Given the description of an element on the screen output the (x, y) to click on. 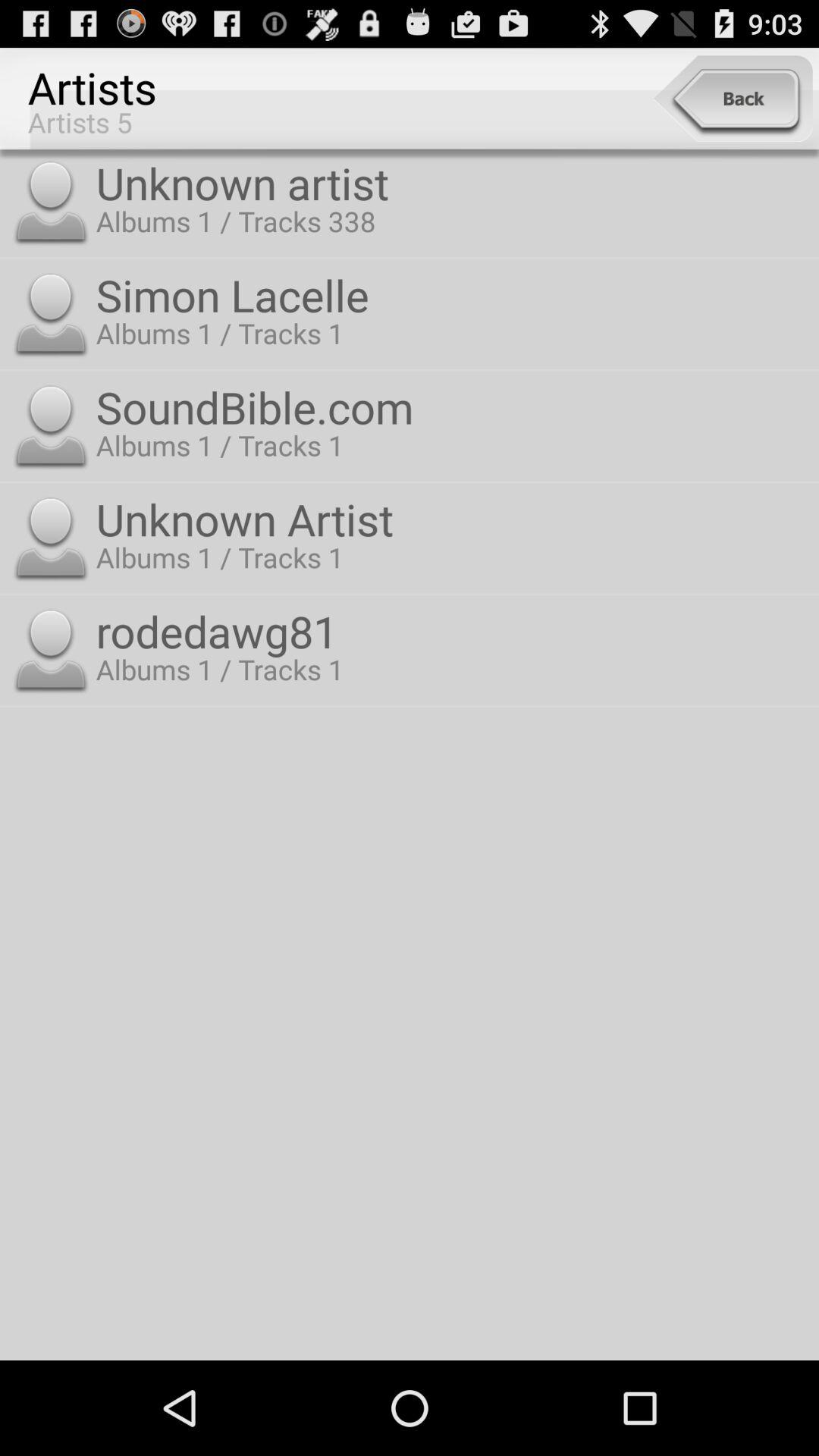
choose item above the unknown artist icon (454, 406)
